Given the description of an element on the screen output the (x, y) to click on. 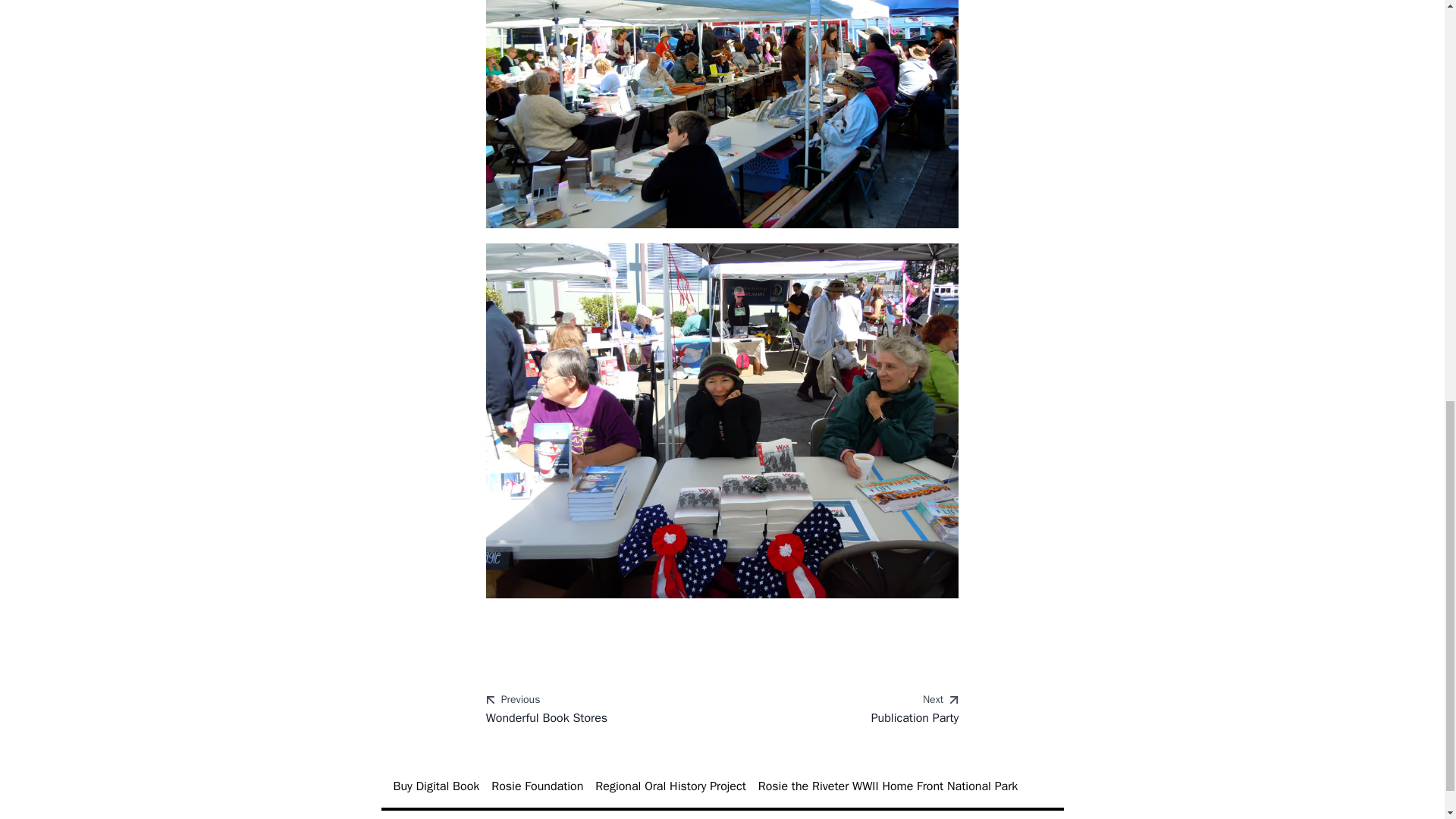
Rosie the Riveter WWII Home Front National Park (887, 786)
Buy Digital Book (845, 710)
Rosie Foundation (436, 786)
Regional Oral History Project (537, 786)
